Given the description of an element on the screen output the (x, y) to click on. 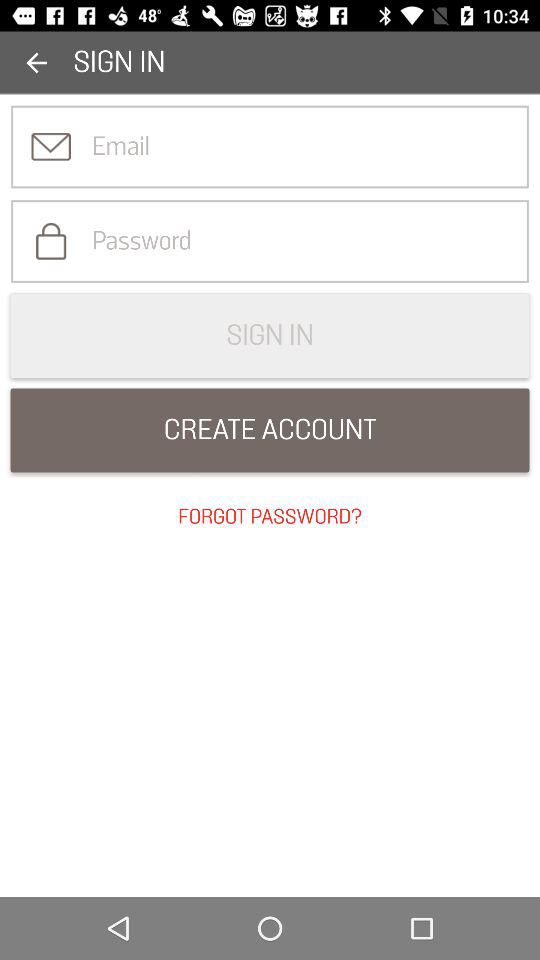
click icon below the create account icon (269, 517)
